Given the description of an element on the screen output the (x, y) to click on. 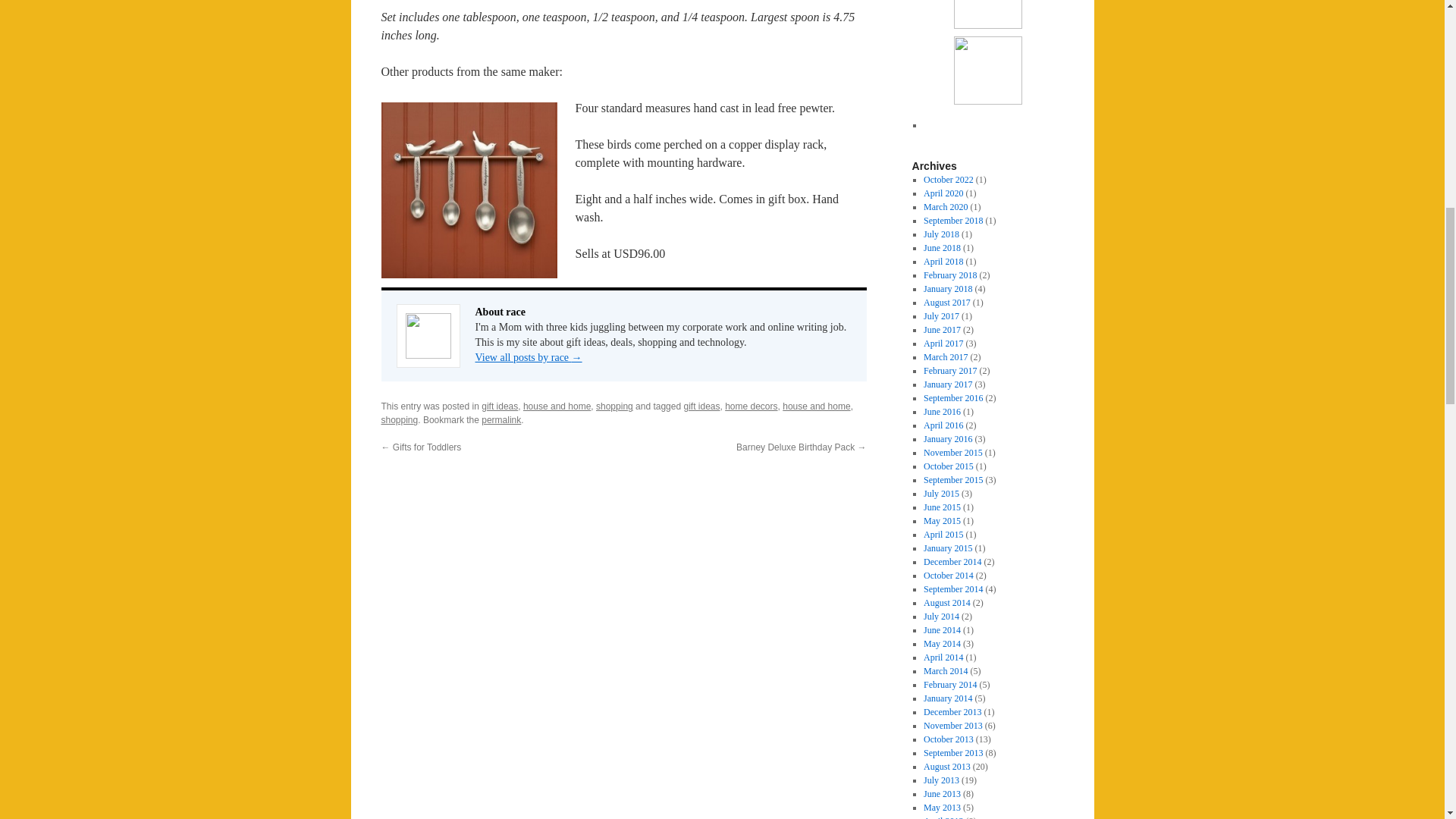
house and home (816, 406)
shopping (398, 419)
permalink (501, 419)
March 2020 (945, 206)
April 2020 (942, 193)
October 2022 (948, 179)
home decors (751, 406)
September 2018 (952, 220)
gift ideas (700, 406)
Permalink to Quotes Measuring Spoons (501, 419)
shopping (614, 406)
house and home (556, 406)
gift ideas (499, 406)
